Given the description of an element on the screen output the (x, y) to click on. 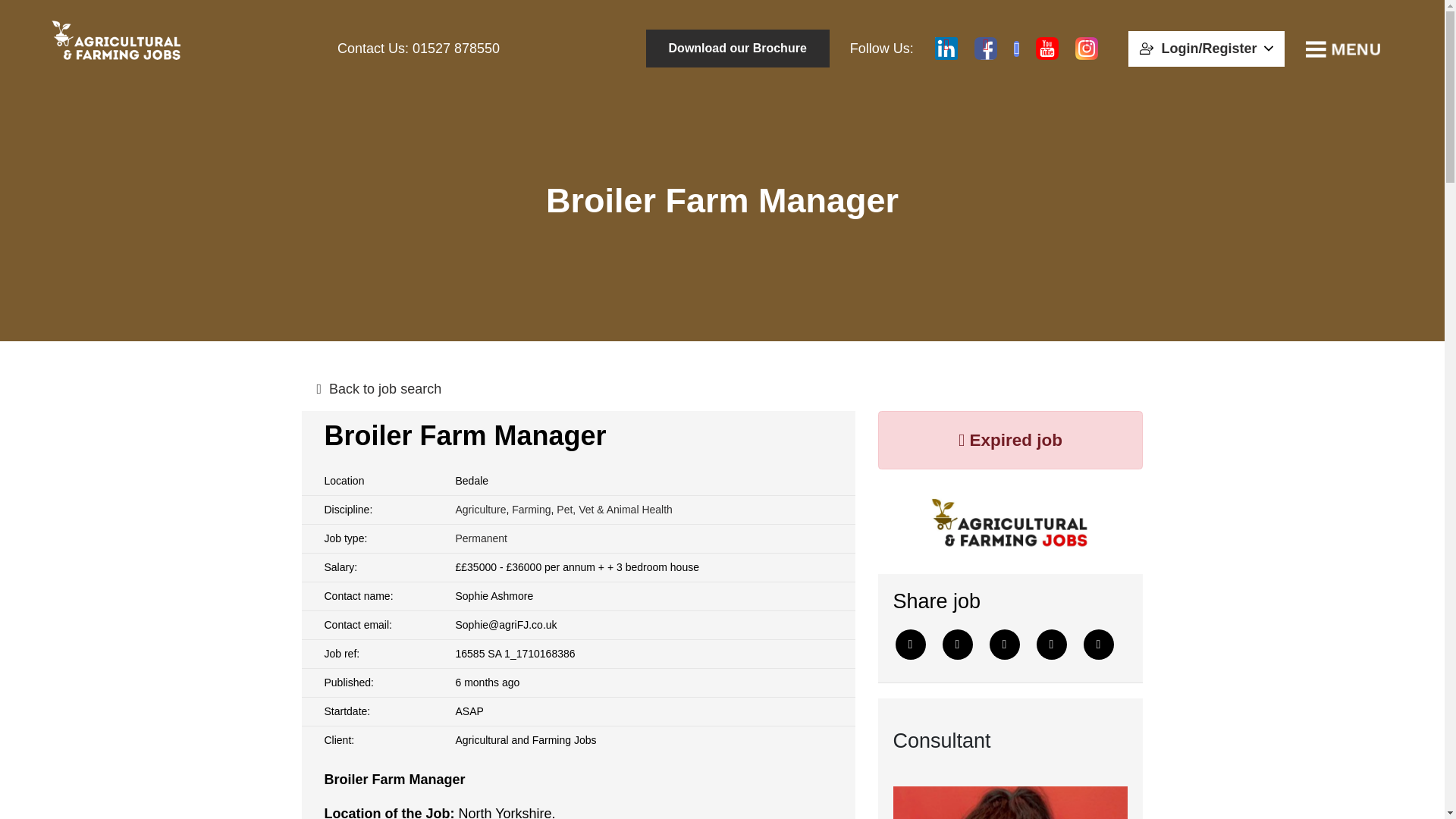
share on LinkedIn (1003, 644)
Tweet this (909, 644)
share on Facebook (957, 644)
Email (1050, 644)
send in Whatsapp (1098, 644)
Go to the Homepage (115, 45)
